Given the description of an element on the screen output the (x, y) to click on. 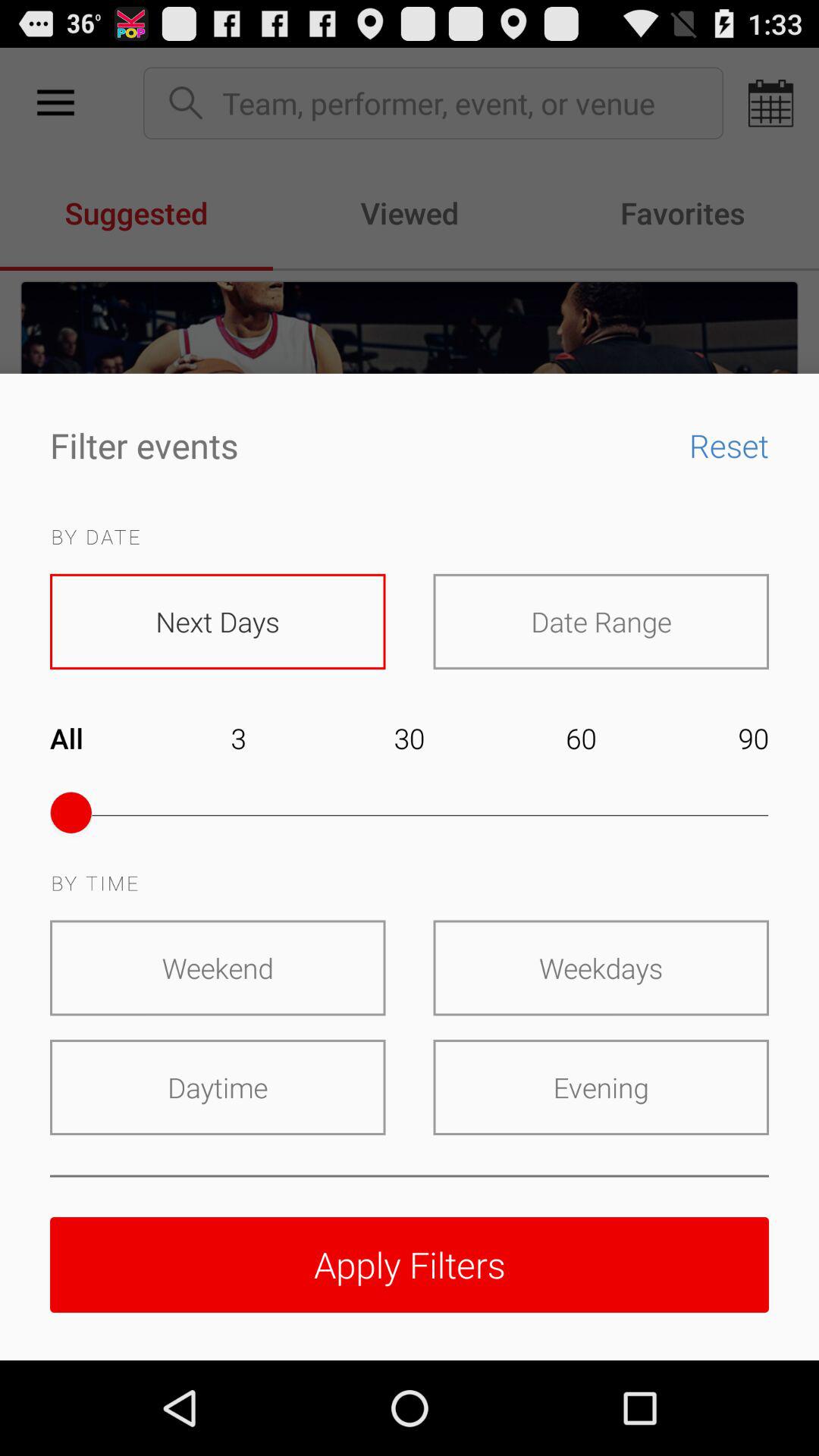
launch evening at the bottom right corner (600, 1087)
